Given the description of an element on the screen output the (x, y) to click on. 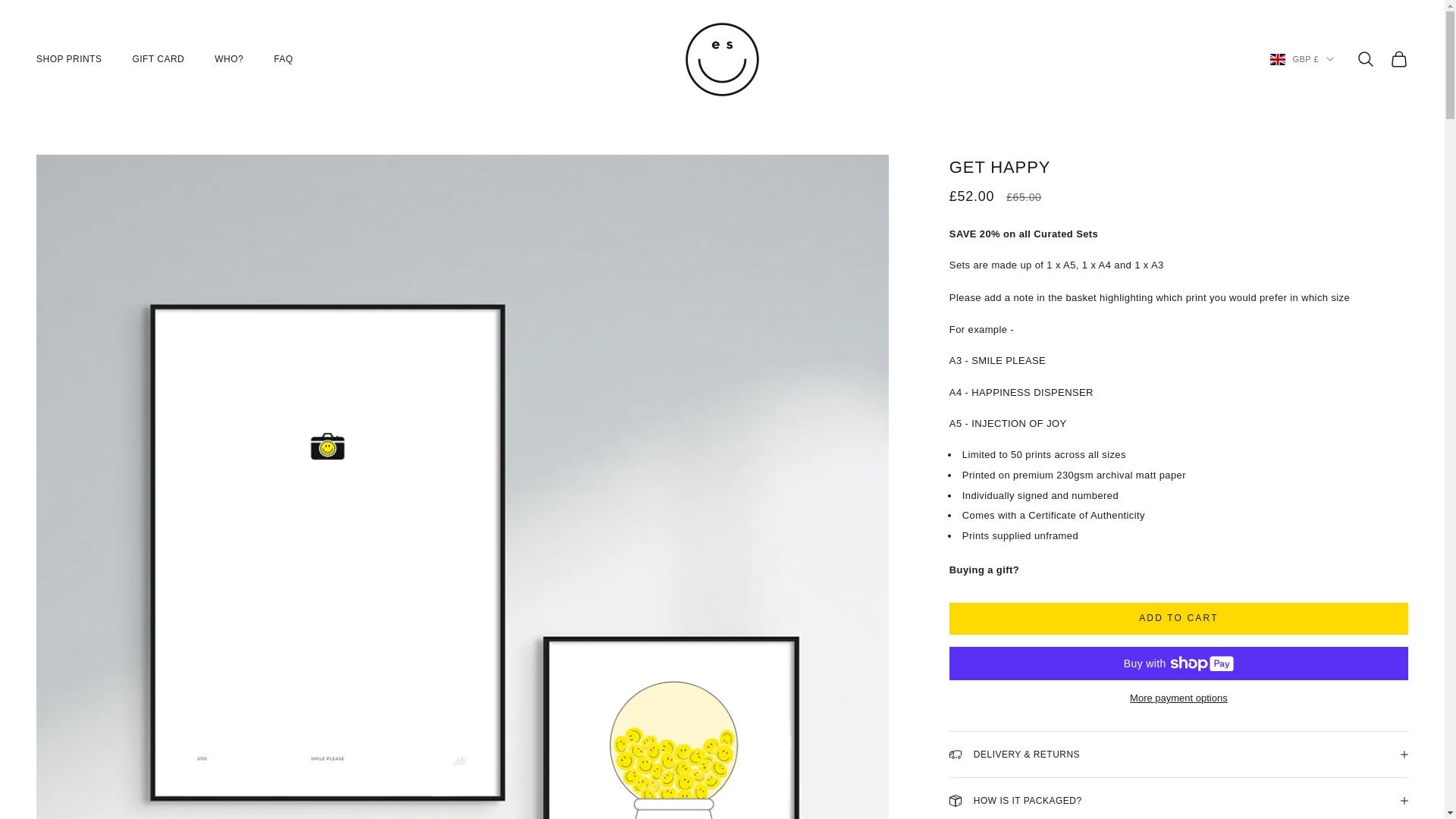
FAQ (282, 58)
WHO? (228, 58)
GIFT CARD (158, 58)
etchasetch (721, 59)
